Given the description of an element on the screen output the (x, y) to click on. 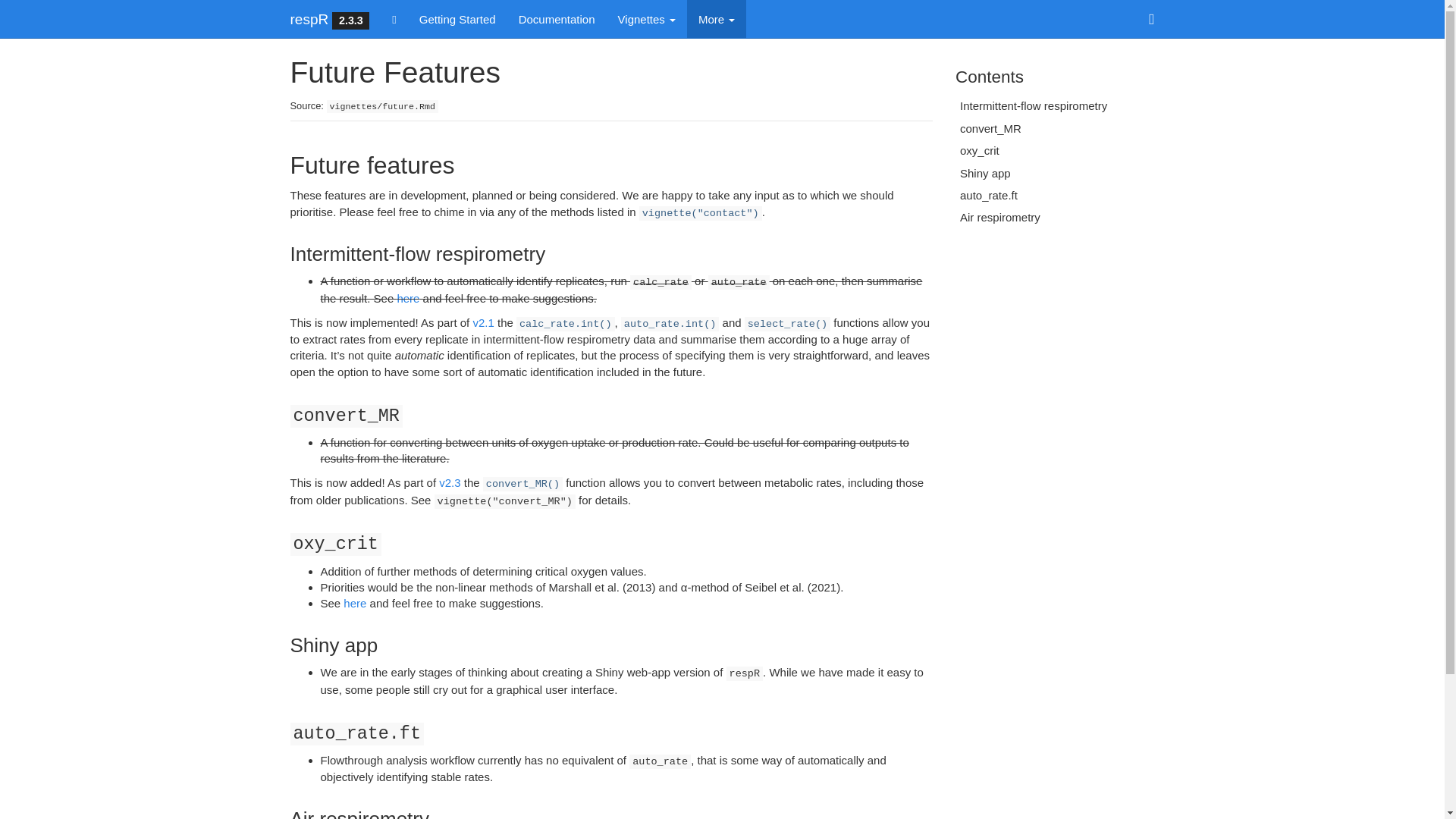
More (716, 18)
Vignettes (647, 18)
Getting Started (456, 18)
respR (309, 18)
Documentation (556, 18)
